Given the description of an element on the screen output the (x, y) to click on. 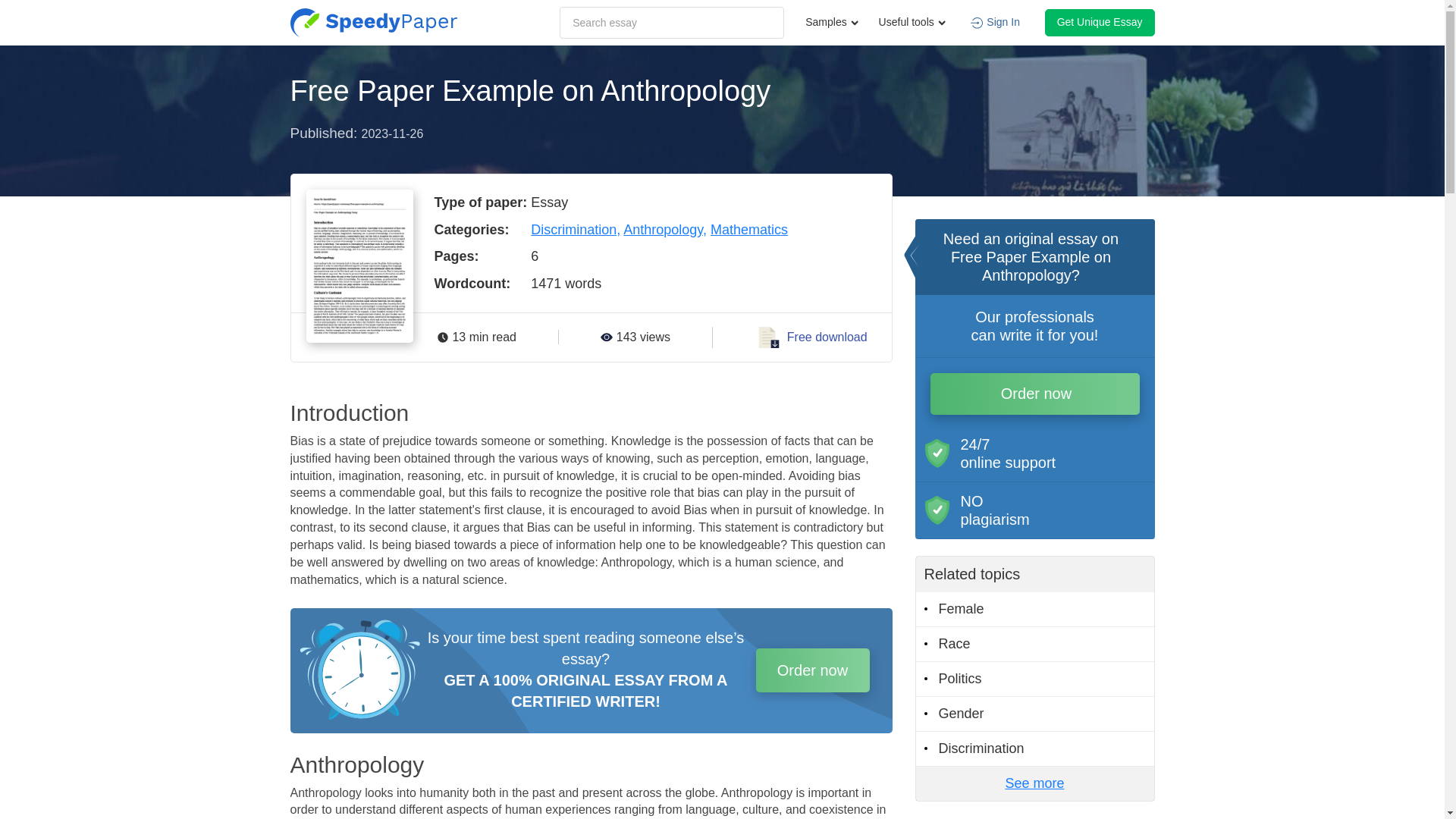
Get Unique Essay (1099, 22)
